Given the description of an element on the screen output the (x, y) to click on. 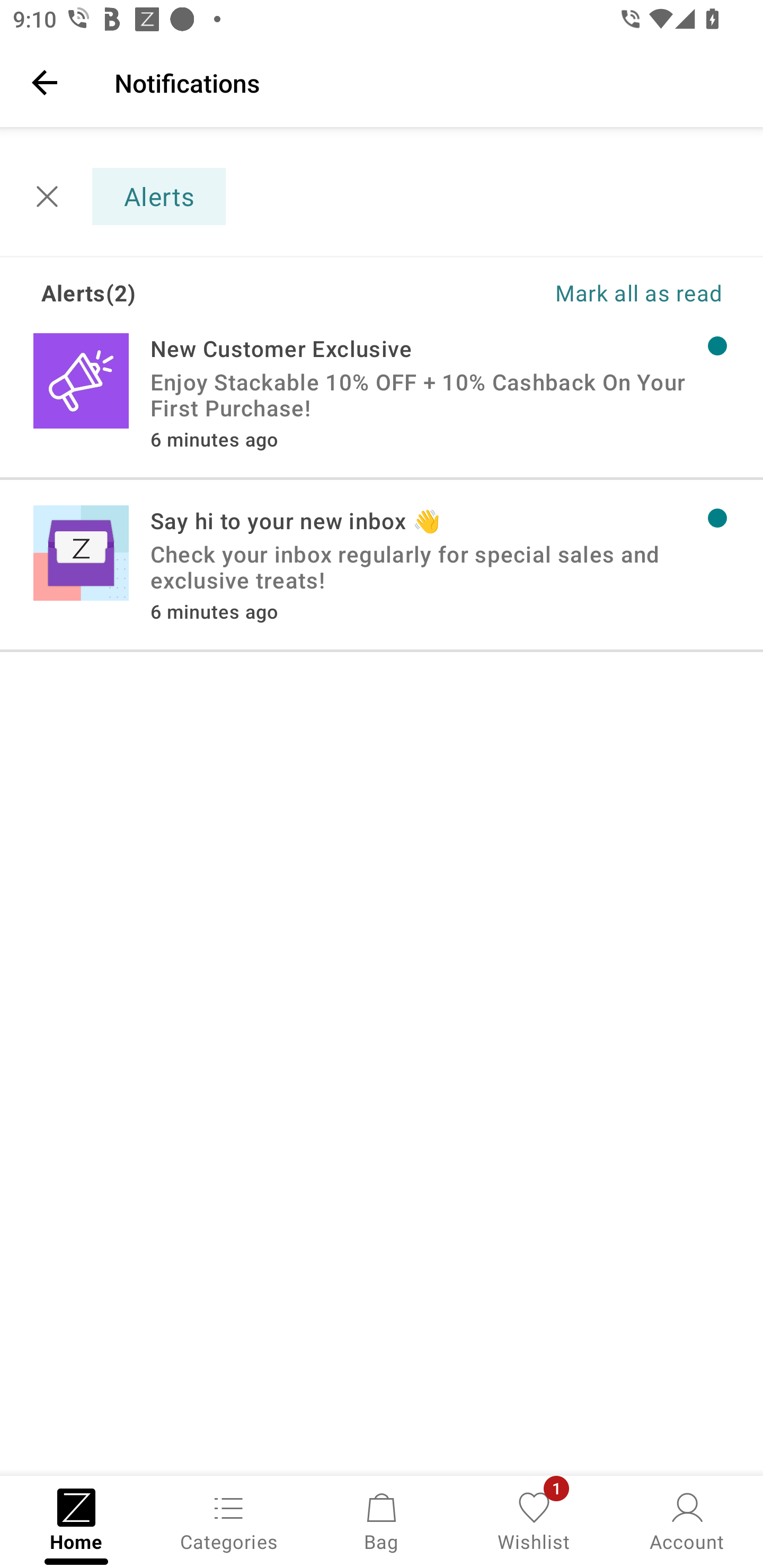
Navigate up (44, 82)
Notifications (426, 82)
Alerts (128, 196)
Mark all as read (551, 292)
Categories (228, 1519)
Bag (381, 1519)
Wishlist, 1 new notification Wishlist (533, 1519)
Account (686, 1519)
